Given the description of an element on the screen output the (x, y) to click on. 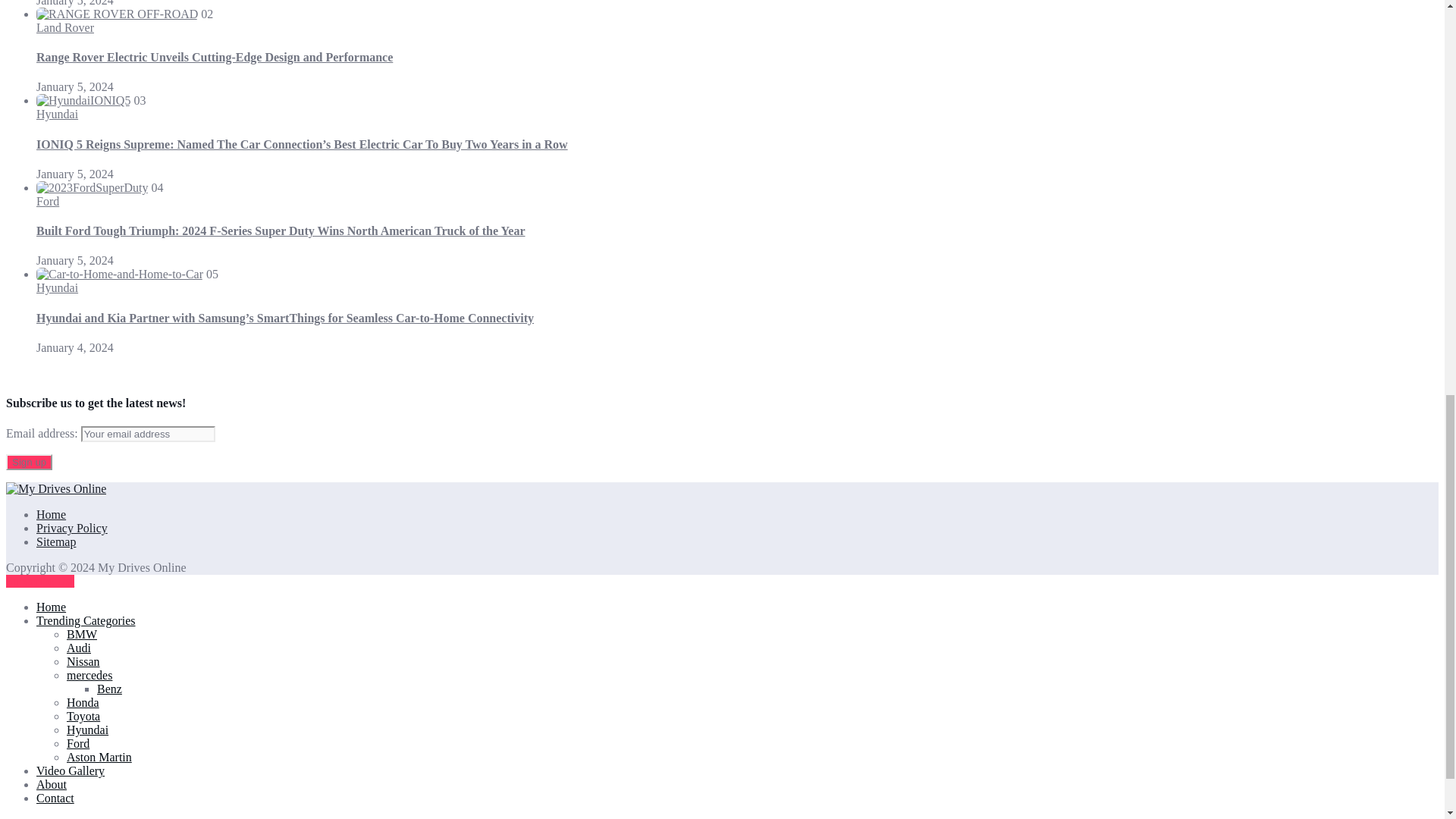
Sign up (28, 462)
